Given the description of an element on the screen output the (x, y) to click on. 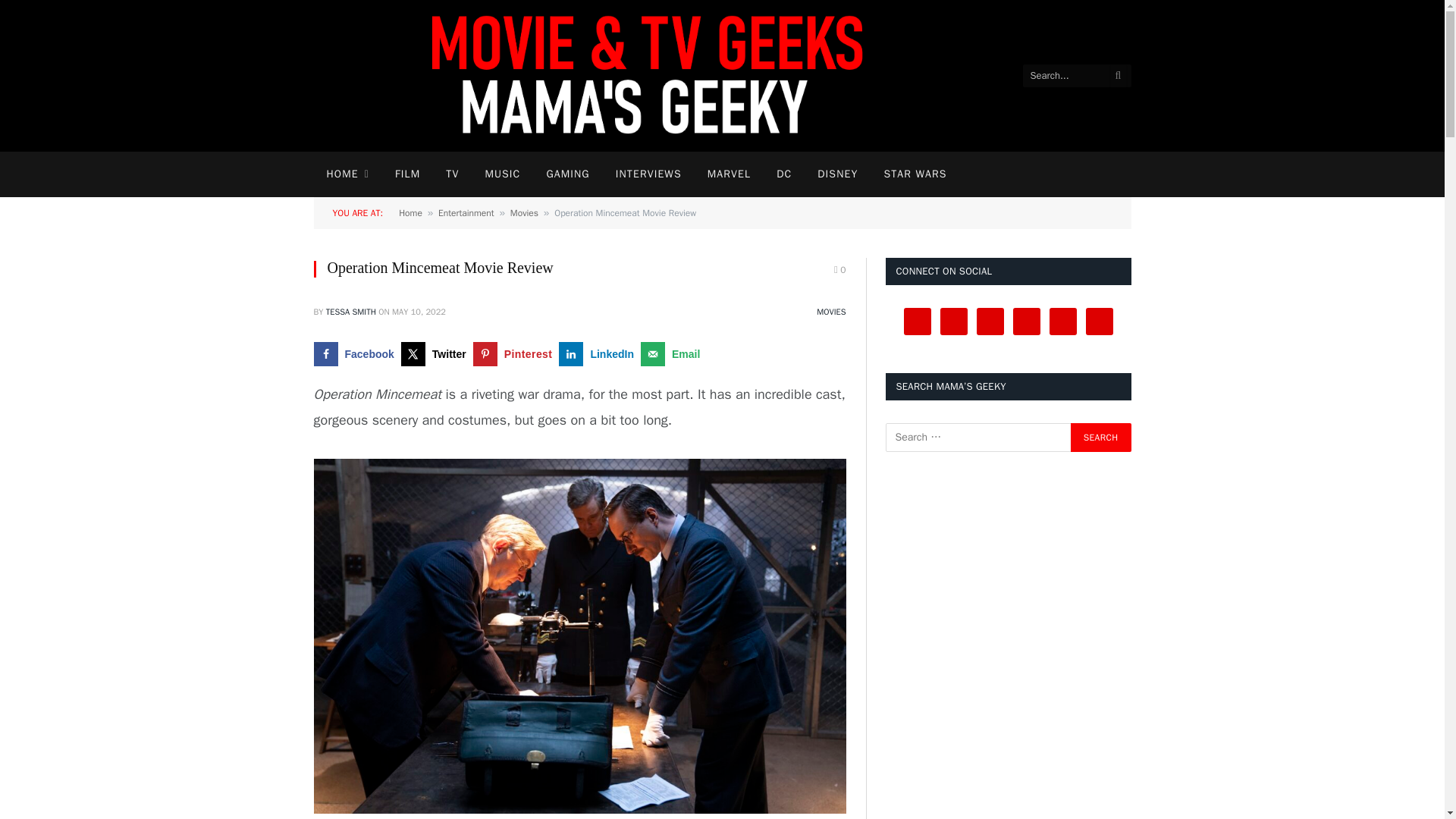
Pinterest (516, 354)
HOME (347, 174)
STAR WARS (914, 174)
DC (783, 174)
INTERVIEWS (648, 174)
Search (1100, 437)
GAMING (567, 174)
FILM (406, 174)
Facebook (357, 354)
Share on Facebook (357, 354)
